Given the description of an element on the screen output the (x, y) to click on. 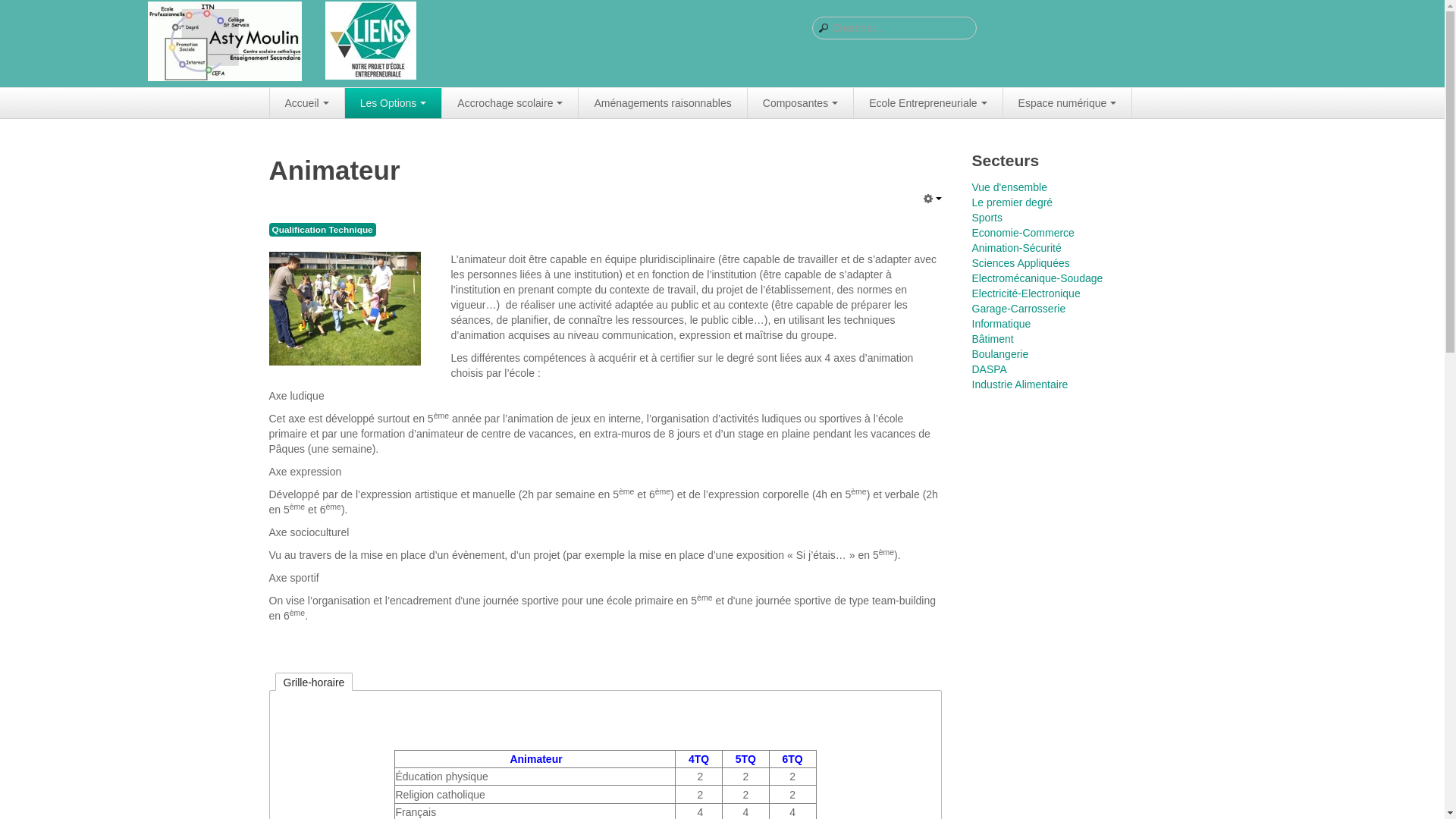
Accrochage scolaire Element type: text (510, 102)
Vue d'ensemble Element type: text (1074, 186)
Sports Element type: text (1074, 217)
Composantes Element type: text (800, 102)
Qualification Technique Element type: text (321, 229)
Centre Asty-Moulin Element type: hover (224, 41)
Les Options Element type: text (393, 102)
Ecole Entrepreneuriale Element type: text (927, 102)
Accueil Element type: text (307, 102)
Garage-Carrosserie Element type: text (1074, 308)
Boulangerie Element type: text (1074, 353)
Industrie Alimentaire Element type: text (1074, 384)
Grille-horaire Element type: text (313, 681)
DASPA Element type: text (1074, 368)
Informatique Element type: text (1074, 323)
Economie-Commerce Element type: text (1074, 232)
